Given the description of an element on the screen output the (x, y) to click on. 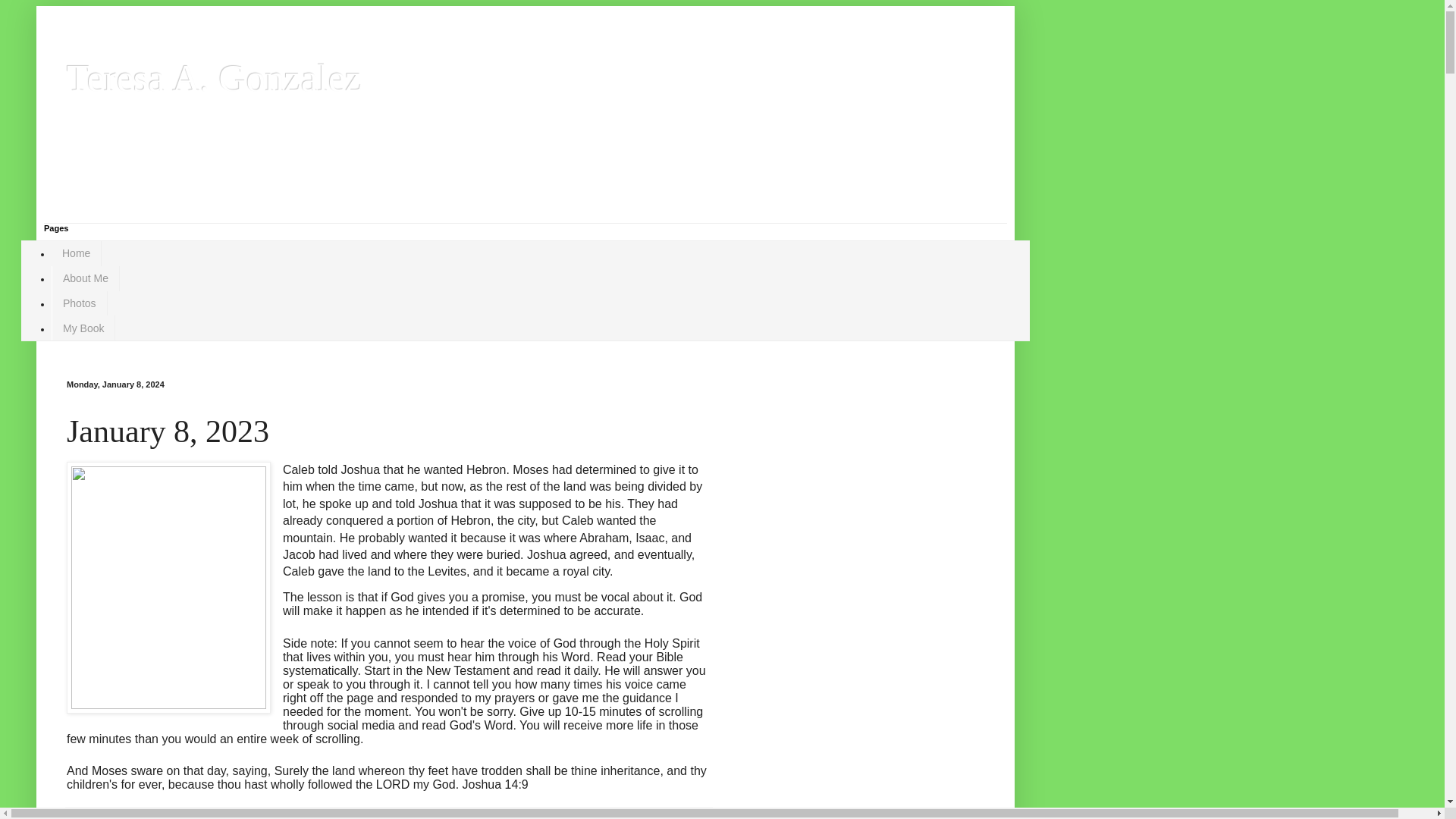
Teresa A. Gonzalez (213, 77)
Photos (78, 303)
Teresa Gonzalez (143, 817)
My Book (82, 327)
permanent link (198, 817)
author profile (143, 817)
Home (75, 253)
About Me (84, 278)
